Given the description of an element on the screen output the (x, y) to click on. 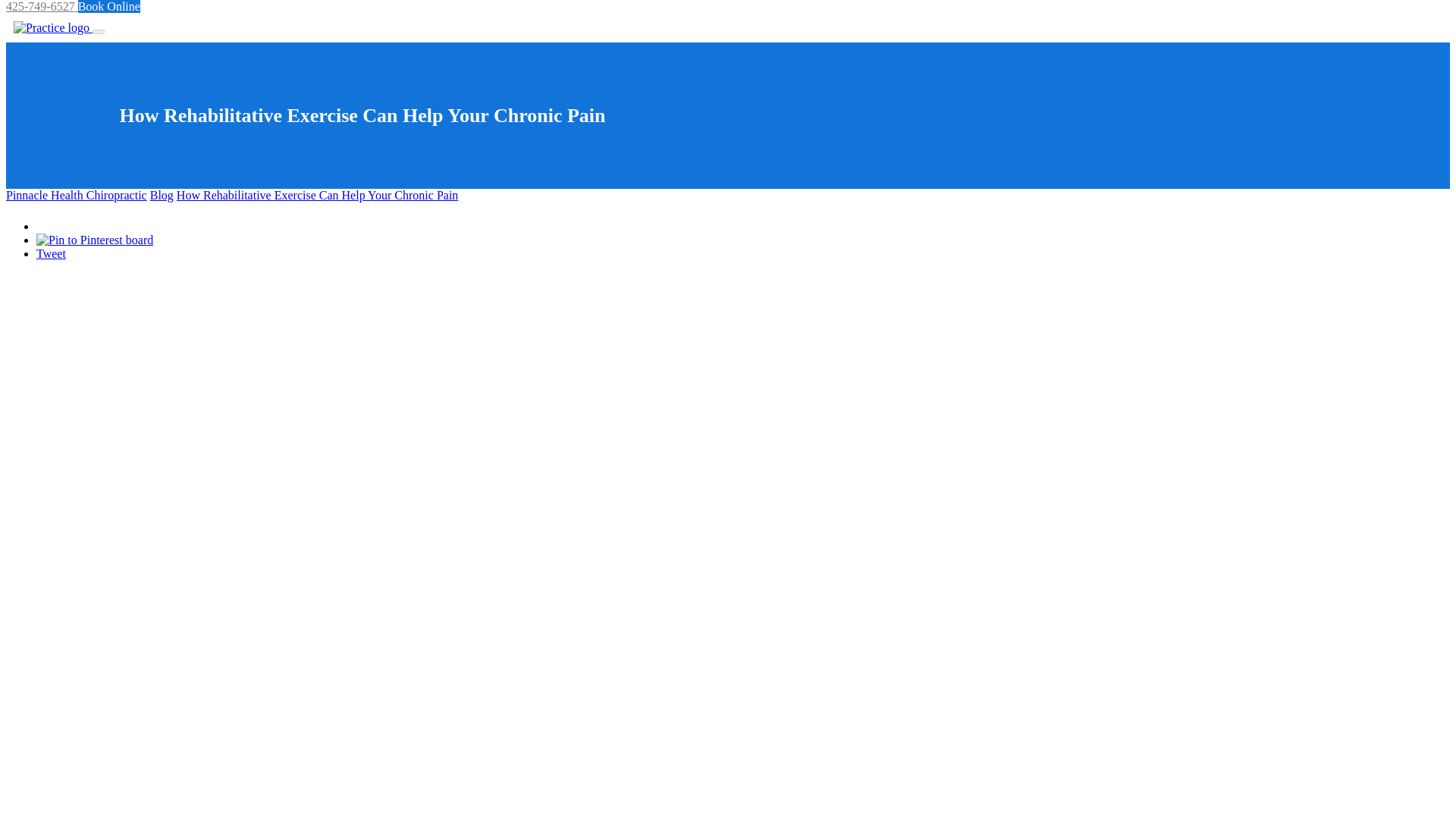
425-749-6527 (41, 6)
Pinnacle Health Chiropractic (76, 195)
How Rehabilitative Exercise Can Help Your Chronic Pain (317, 195)
Book Online (108, 6)
Tweet (50, 253)
Facebook social button (89, 222)
Blog (161, 195)
